Given the description of an element on the screen output the (x, y) to click on. 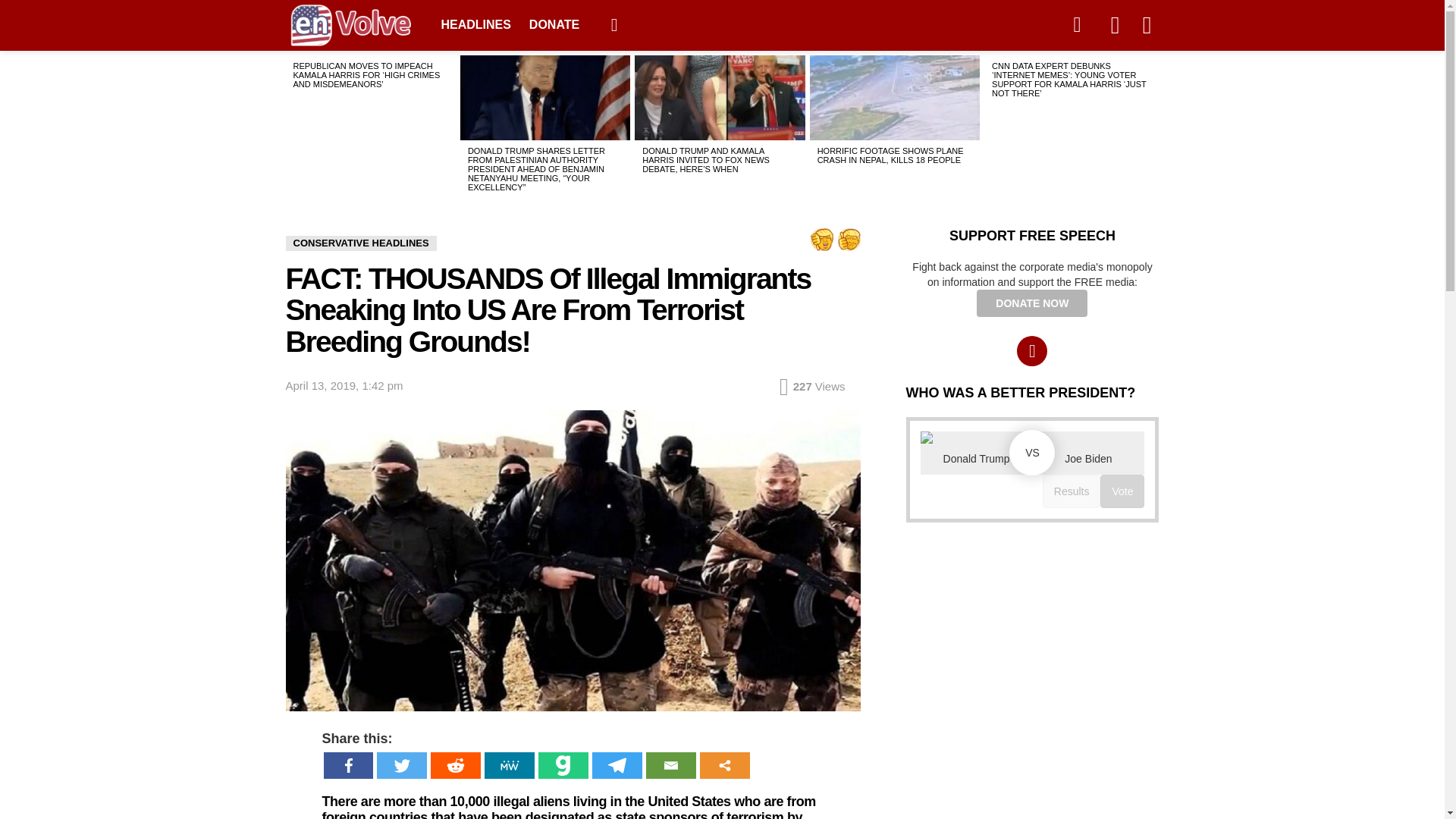
HEADLINES (475, 24)
HORRIFIC FOOTAGE SHOWS PLANE CRASH IN NEPAL, KILLS 18 PEOPLE (889, 155)
YES! (848, 239)
Horrific Footage Shows Plane Crash In Nepal, Kills 18 People (894, 97)
telegram (1076, 24)
Facebook (348, 765)
TERRIBLE! (820, 239)
DONATE (553, 24)
MeWe (509, 765)
Twitter (402, 765)
CONSERVATIVE HEADLINES (360, 242)
Menu (614, 24)
Reddit (455, 765)
